Given the description of an element on the screen output the (x, y) to click on. 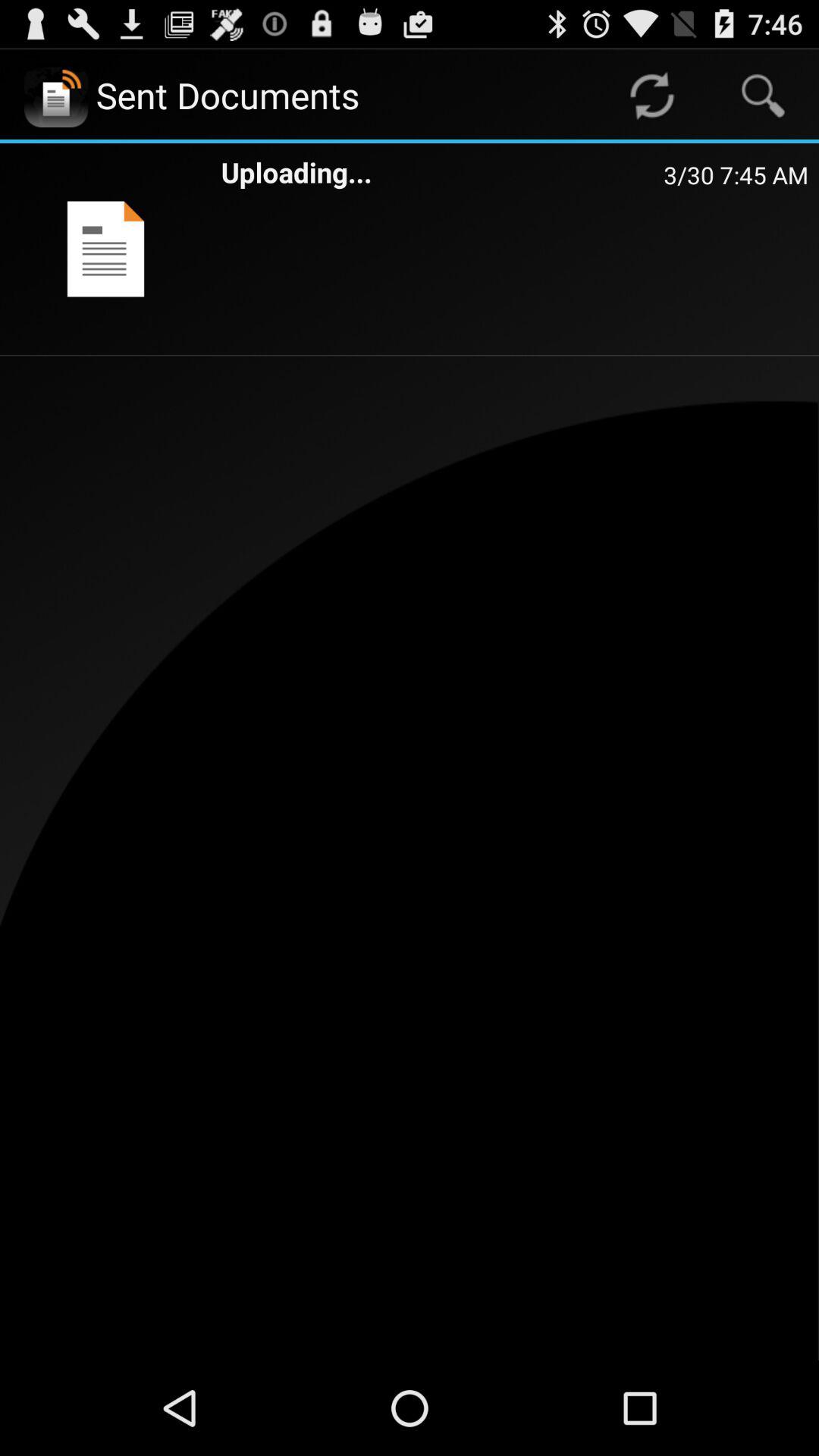
press 3 30 7 item (735, 174)
